Given the description of an element on the screen output the (x, y) to click on. 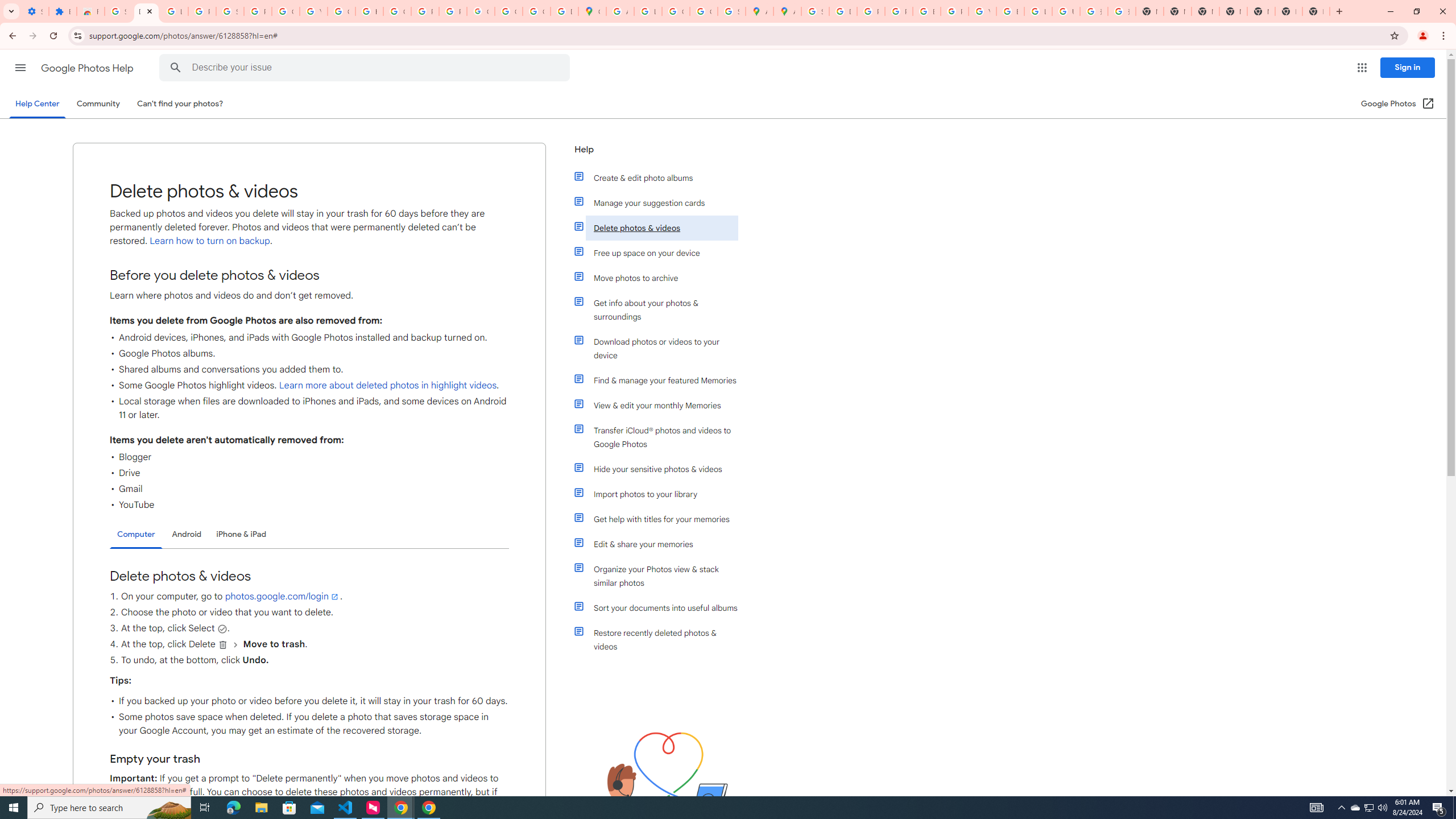
Google Photos Help (87, 68)
Reviews: Helix Fruit Jump Arcade Game (90, 11)
Import photos to your library (661, 493)
photos.google.com/login (282, 596)
Search Help Center (176, 67)
Manage your suggestion cards (661, 202)
Get help with titles for your memories (661, 518)
Sort your documents into useful albums (661, 607)
